Given the description of an element on the screen output the (x, y) to click on. 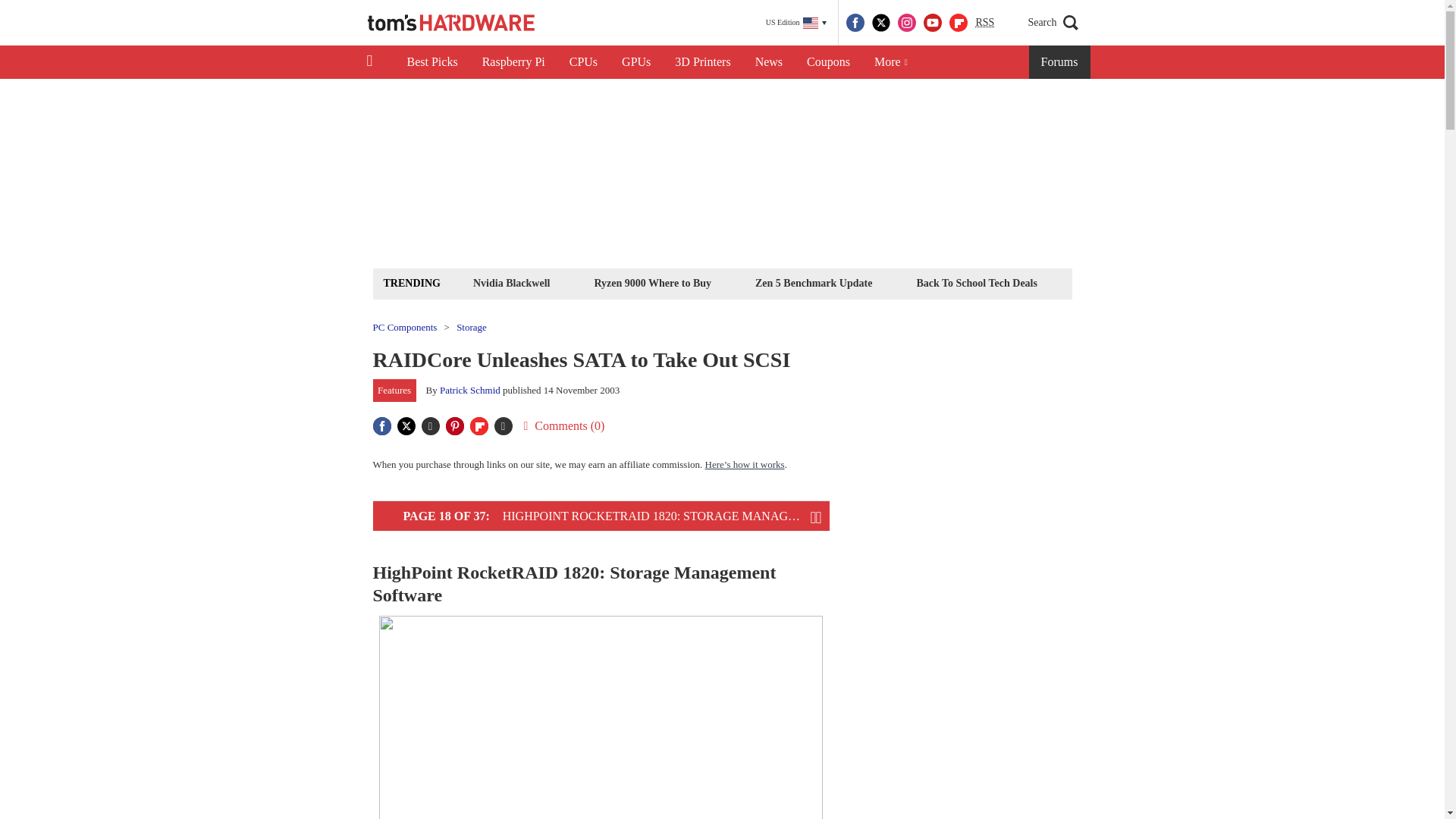
RSS (984, 22)
Best Picks (431, 61)
Really Simple Syndication (984, 21)
US Edition (796, 22)
Raspberry Pi (513, 61)
Coupons (827, 61)
CPUs (583, 61)
3D Printers (702, 61)
GPUs (636, 61)
Forums (1059, 61)
